Given the description of an element on the screen output the (x, y) to click on. 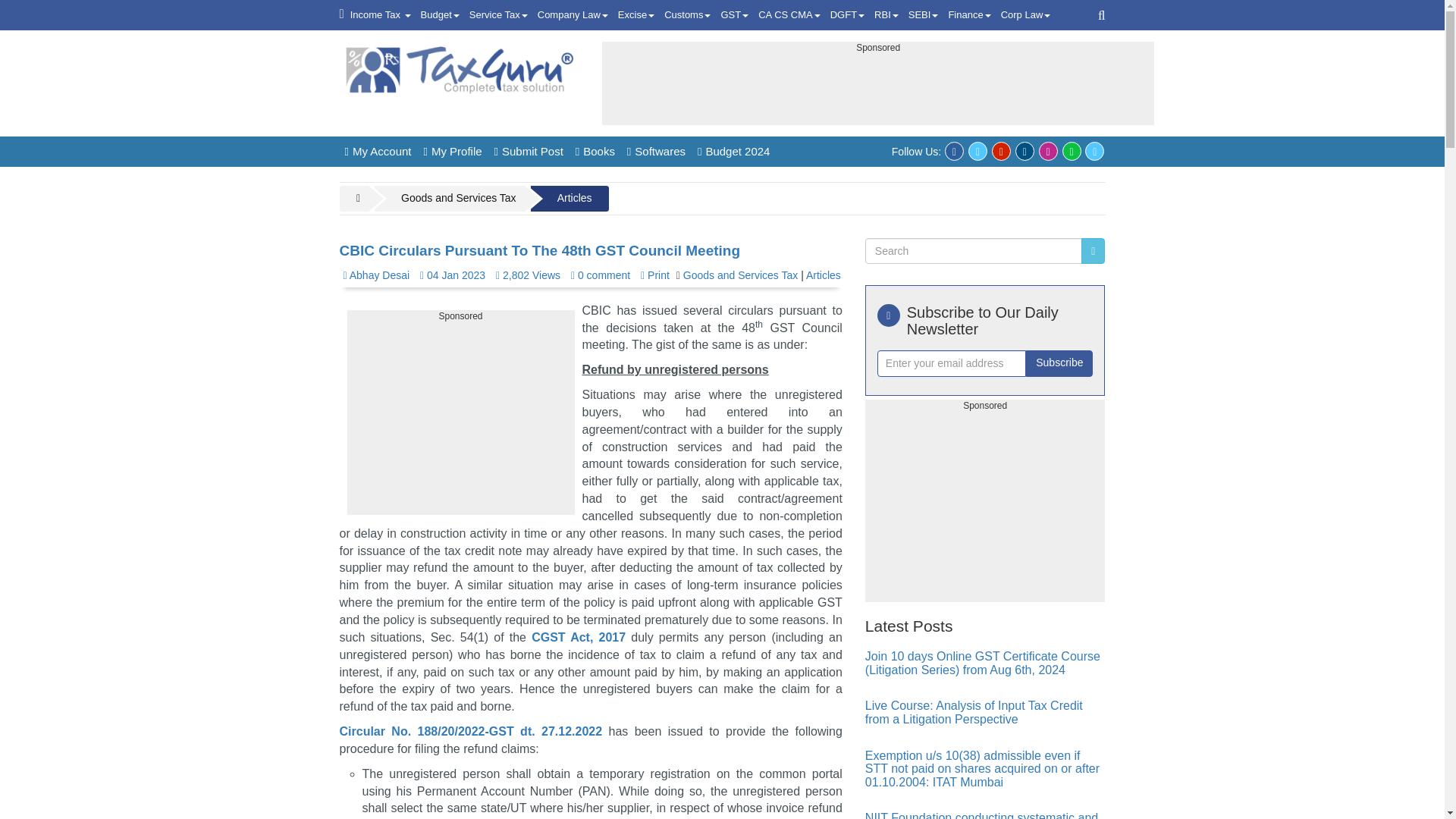
Budget (439, 15)
Income Tax Related Information (380, 15)
Customs (687, 15)
Service Tax (498, 15)
Income Tax (380, 15)
Union Budget 2024 Article News Notifications (439, 15)
Company Law (572, 15)
Excise (636, 15)
Service Tax Article News Notifications Judgments (498, 15)
